Given the description of an element on the screen output the (x, y) to click on. 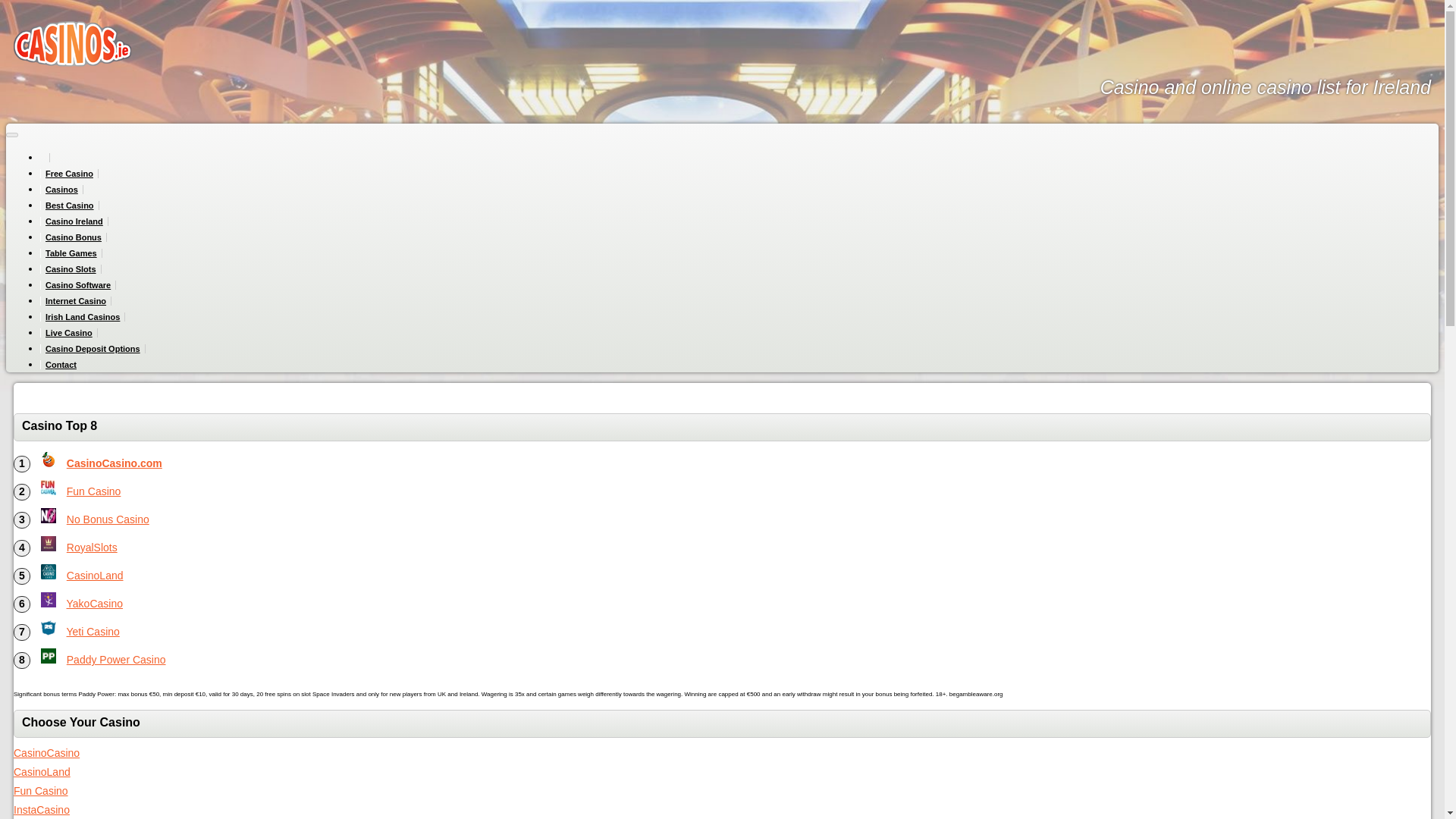
No Bonus Casino (107, 519)
Free Casino (69, 173)
Fun Casino (93, 491)
Free Casino (69, 173)
Casino Ireland (73, 221)
Contact (60, 364)
Table Games (70, 252)
Casino Software (78, 284)
Best Casino (69, 204)
YakoCasino (94, 603)
Casino Deposit Options (92, 347)
Table Games (70, 252)
CasinoLand (94, 575)
Casino Software (78, 284)
Casino Home (44, 157)
